Given the description of an element on the screen output the (x, y) to click on. 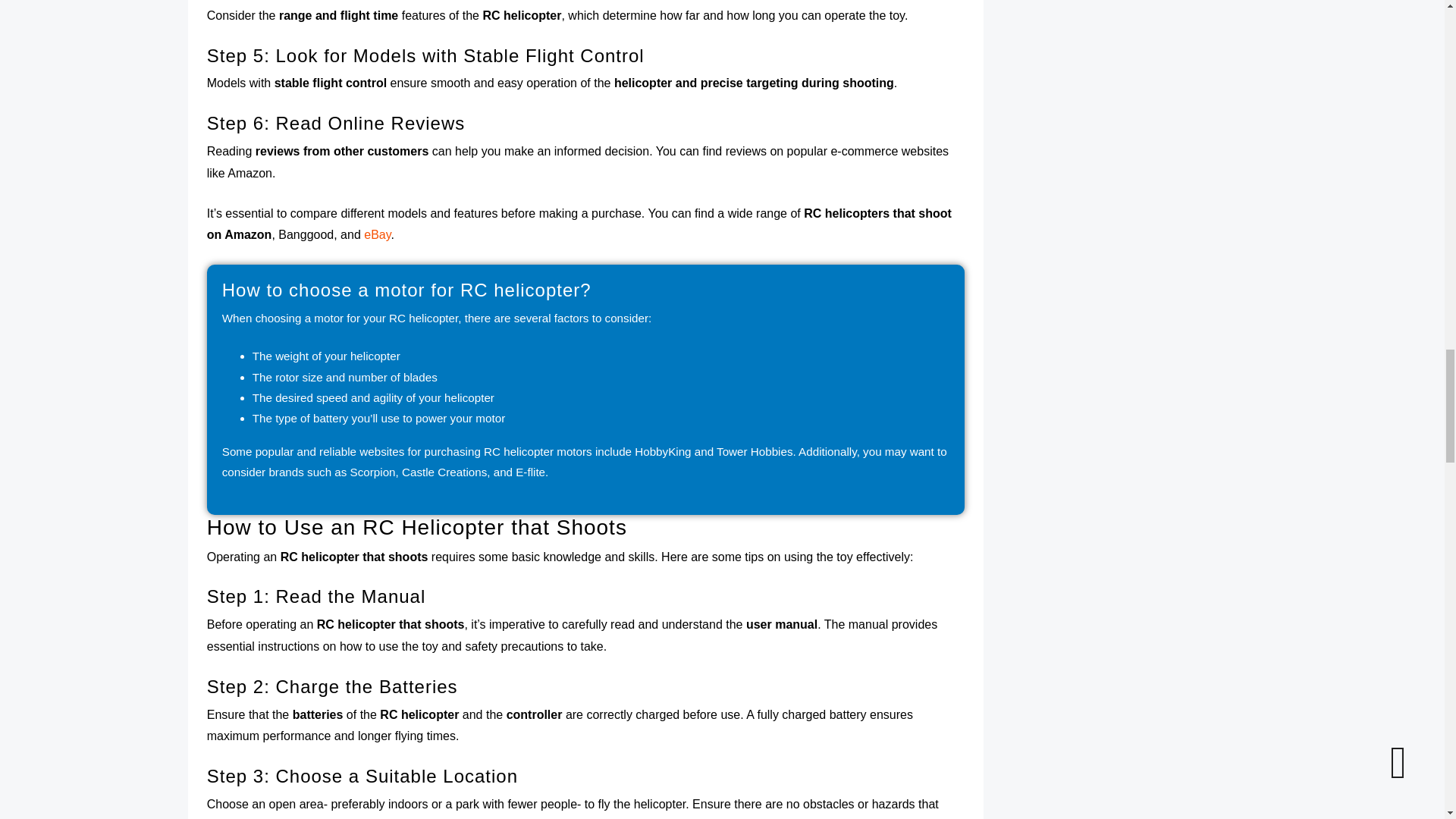
eBay (377, 234)
